Given the description of an element on the screen output the (x, y) to click on. 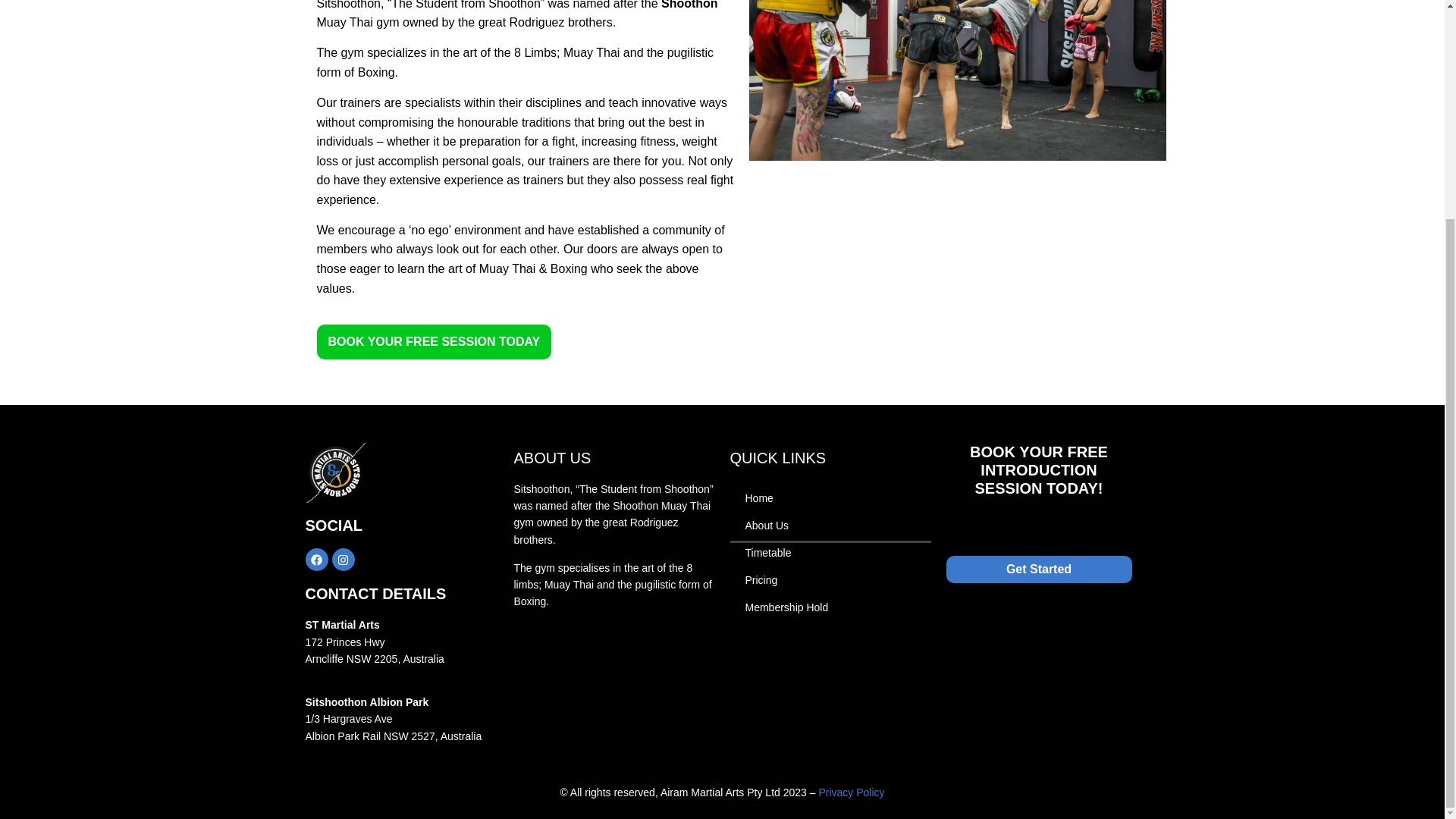
Membership Hold (829, 606)
BOOK YOUR FREE SESSION TODAY (434, 341)
Timetable (829, 552)
Home (829, 497)
Privacy Policy (850, 792)
Pricing (829, 579)
About Us (829, 524)
Get Started (1039, 569)
